Given the description of an element on the screen output the (x, y) to click on. 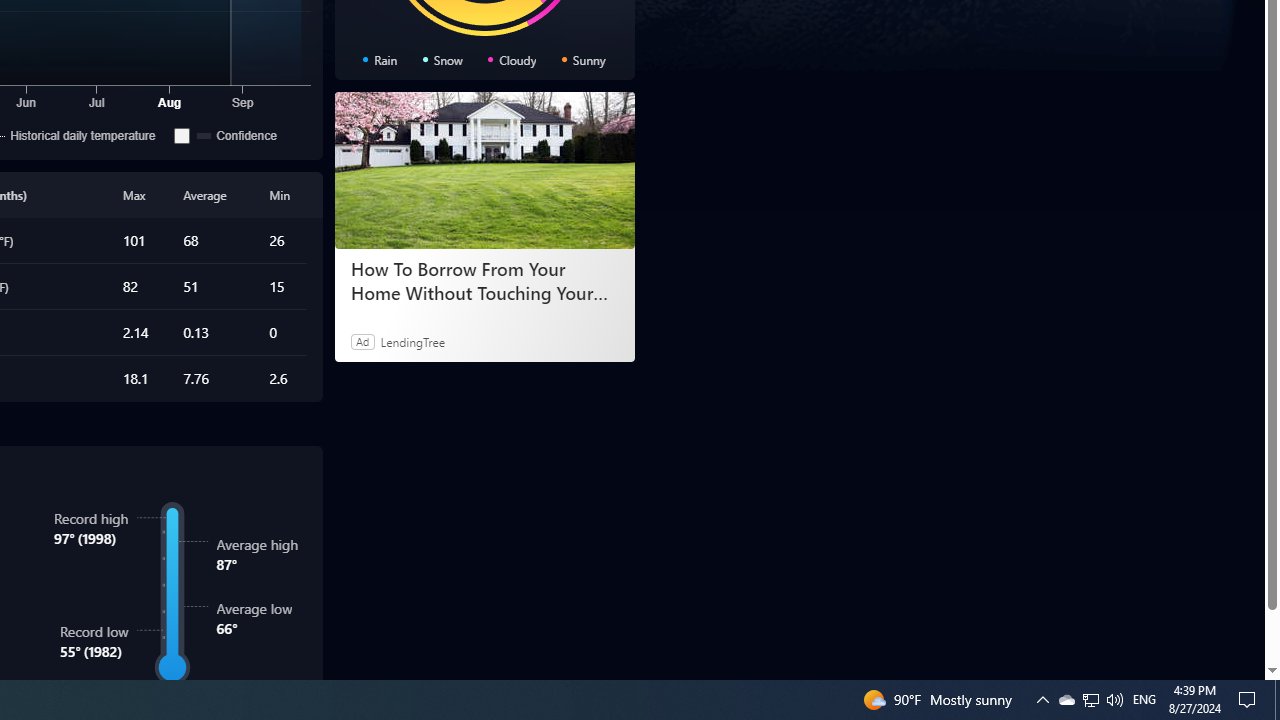
Tray Input Indicator - English (United States) (1144, 699)
